Given the description of an element on the screen output the (x, y) to click on. 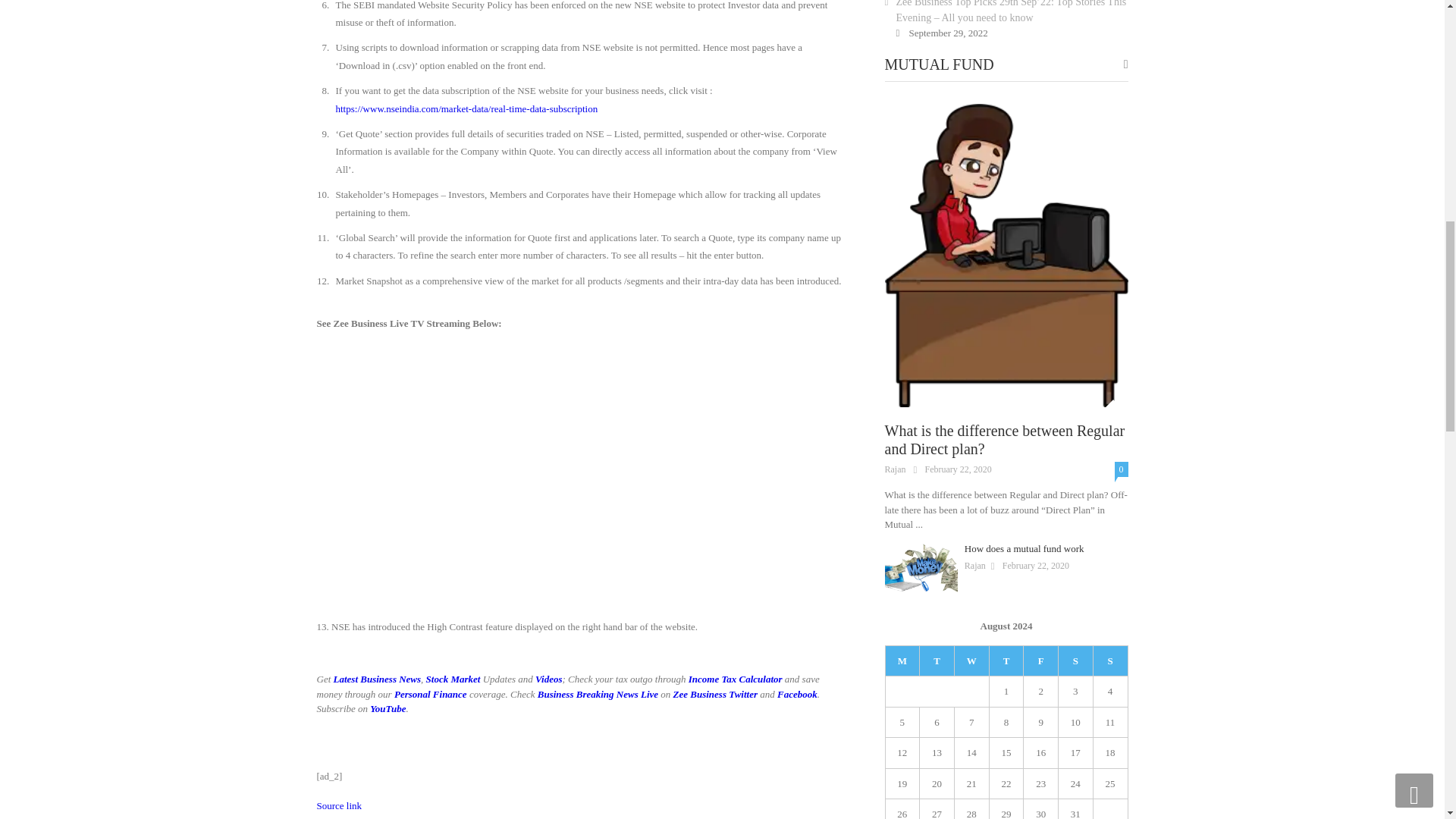
Videos (548, 678)
Stock Market (453, 678)
Income Tax Calculator (735, 678)
Facebook (796, 694)
How does a mutual fund work (919, 567)
Zee Business Twitter (714, 694)
YouTube (387, 708)
Latest Business News (377, 678)
Personal Finance (430, 694)
Source link (339, 805)
Business Breaking News Live (597, 694)
